Given the description of an element on the screen output the (x, y) to click on. 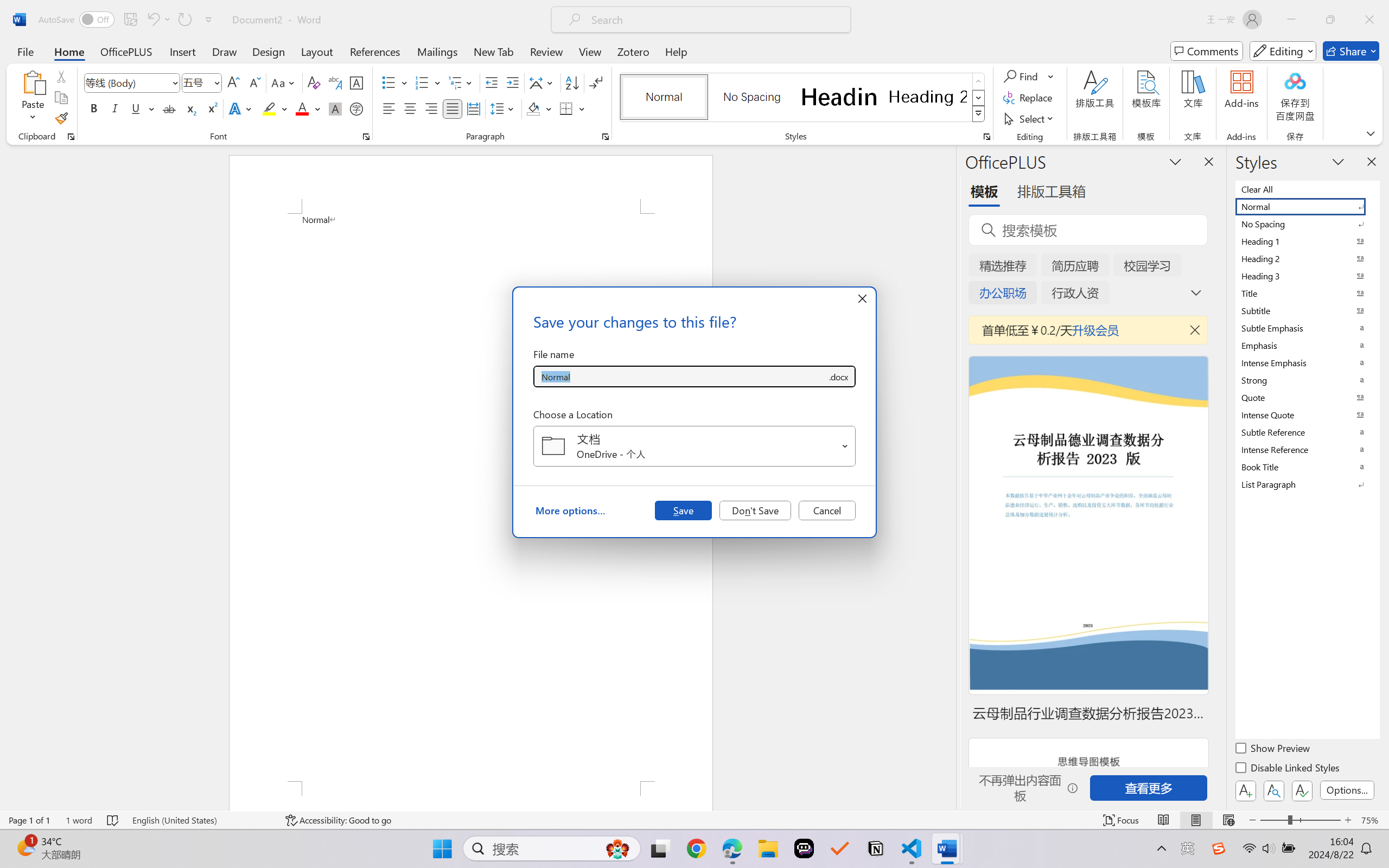
Font (126, 82)
Numbering (421, 82)
Language English (United States) (201, 819)
More Options (1051, 75)
Close (1369, 19)
Character Shading (334, 108)
Options... (1346, 789)
Focus  (1121, 819)
Don't Save (755, 509)
Choose a Location (694, 446)
